Given the description of an element on the screen output the (x, y) to click on. 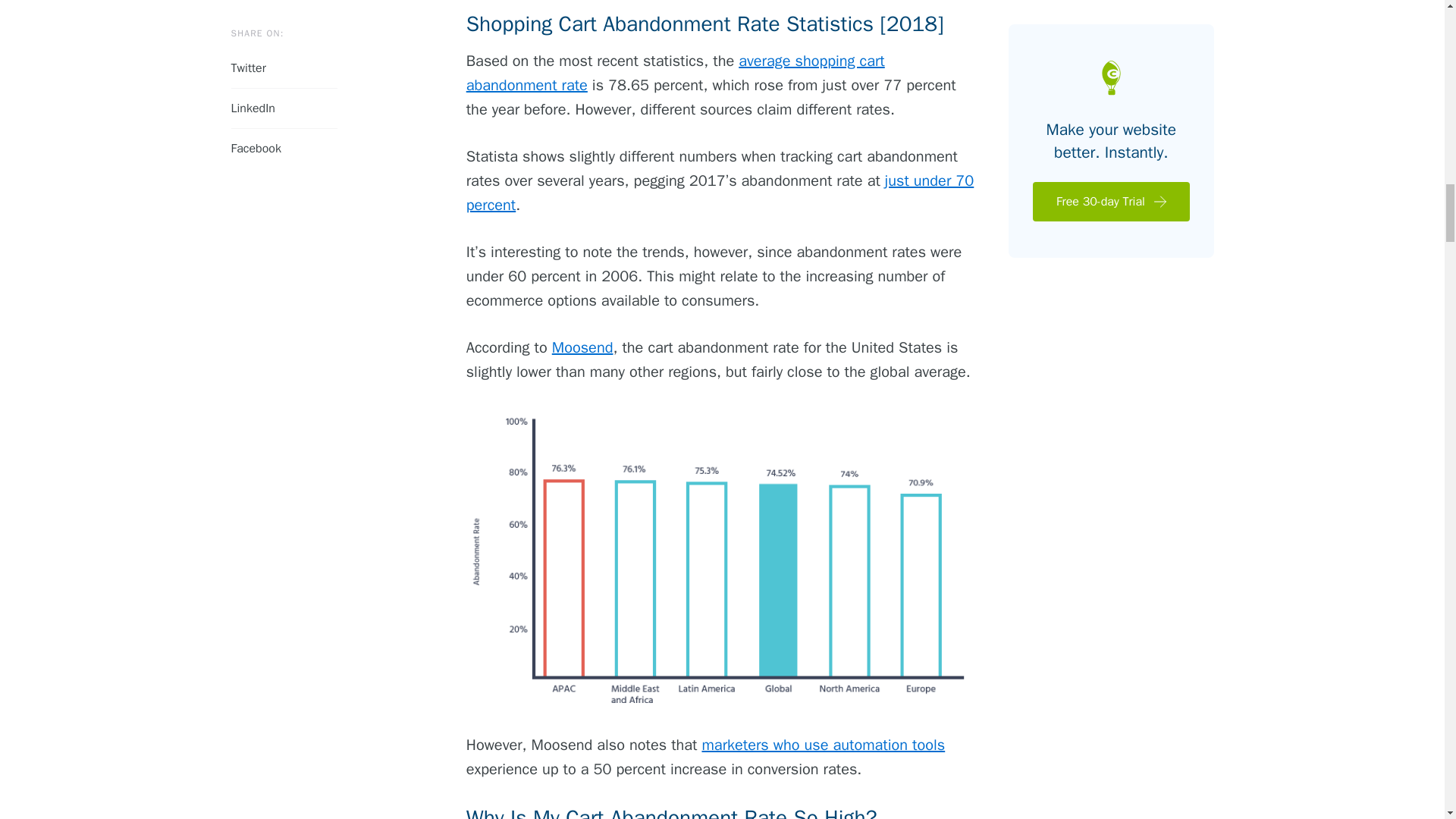
Moosend (581, 347)
marketers who use automation tools (822, 744)
average shopping cart abandonment rate (675, 73)
just under 70 percent (719, 192)
